Given the description of an element on the screen output the (x, y) to click on. 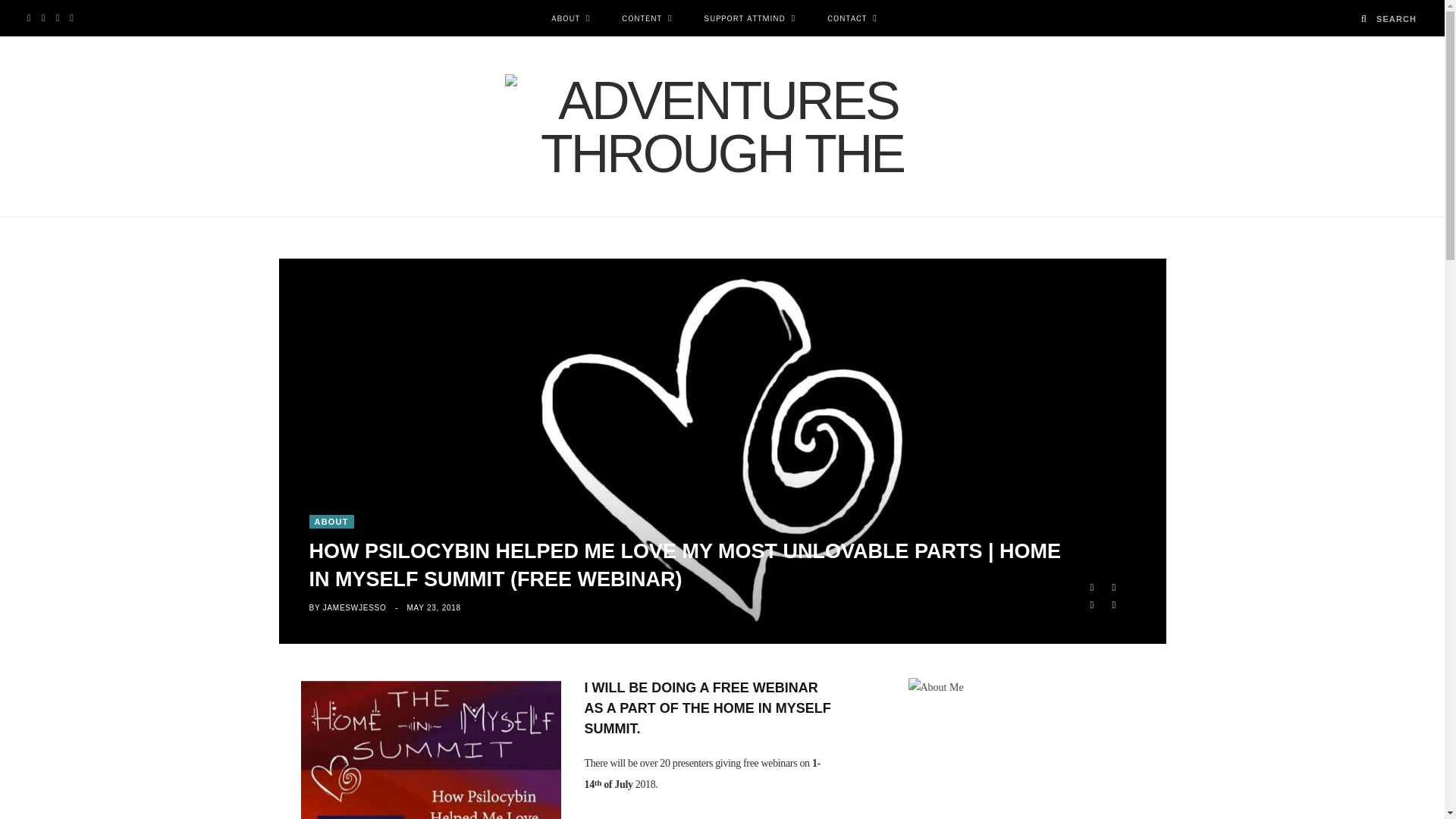
Facebook (1090, 587)
Posts by jameswjesso (355, 607)
CONTACT (851, 18)
CONTENT (646, 18)
Adventures Through The Mind (722, 126)
ABOUT (330, 521)
JAMESWJESSO (355, 607)
Twitter (1112, 587)
SUPPORT ATTMIND (748, 18)
MAY 23, 2018 (433, 607)
